Given the description of an element on the screen output the (x, y) to click on. 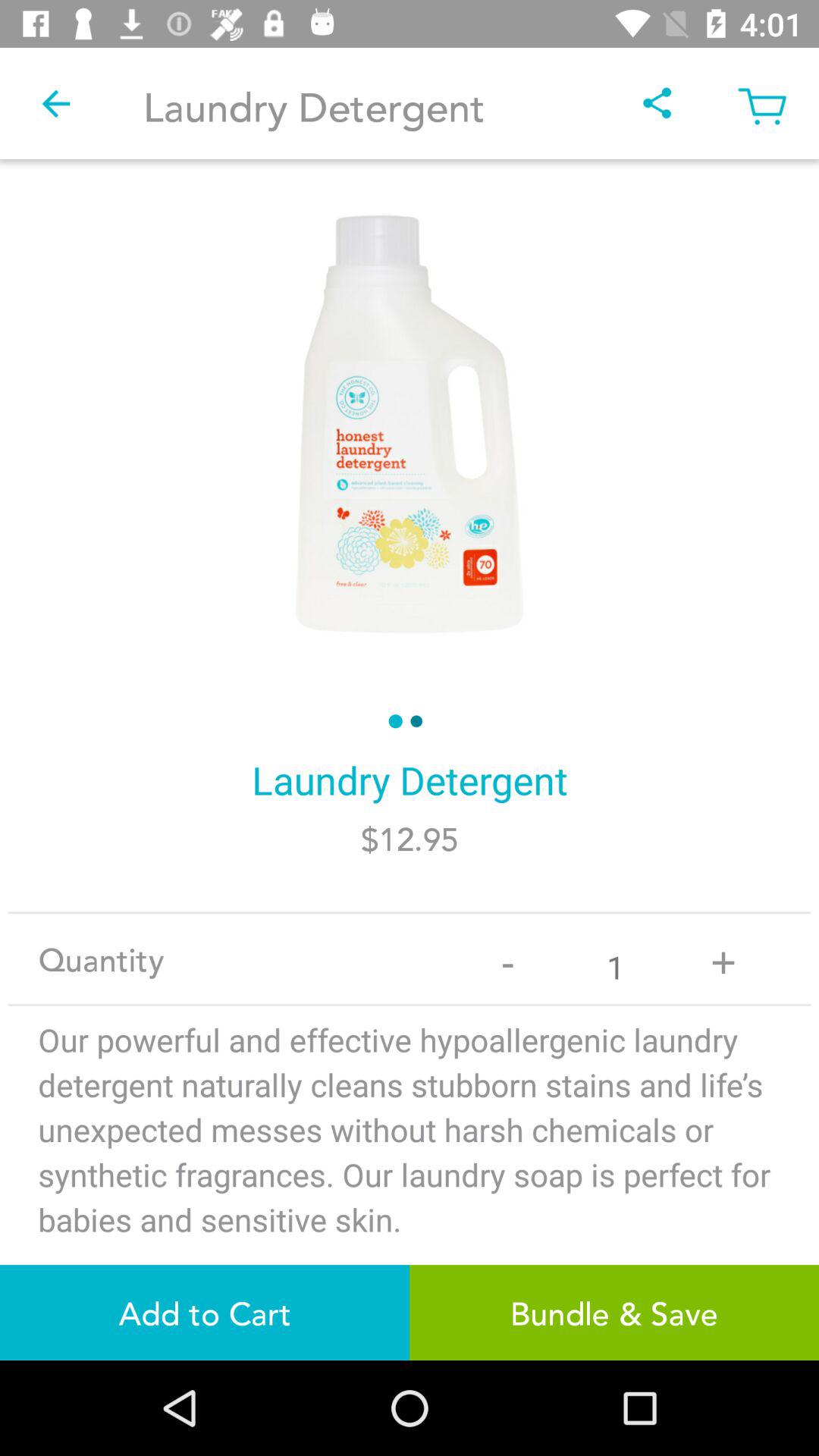
launch icon at the bottom left corner (204, 1312)
